Given the description of an element on the screen output the (x, y) to click on. 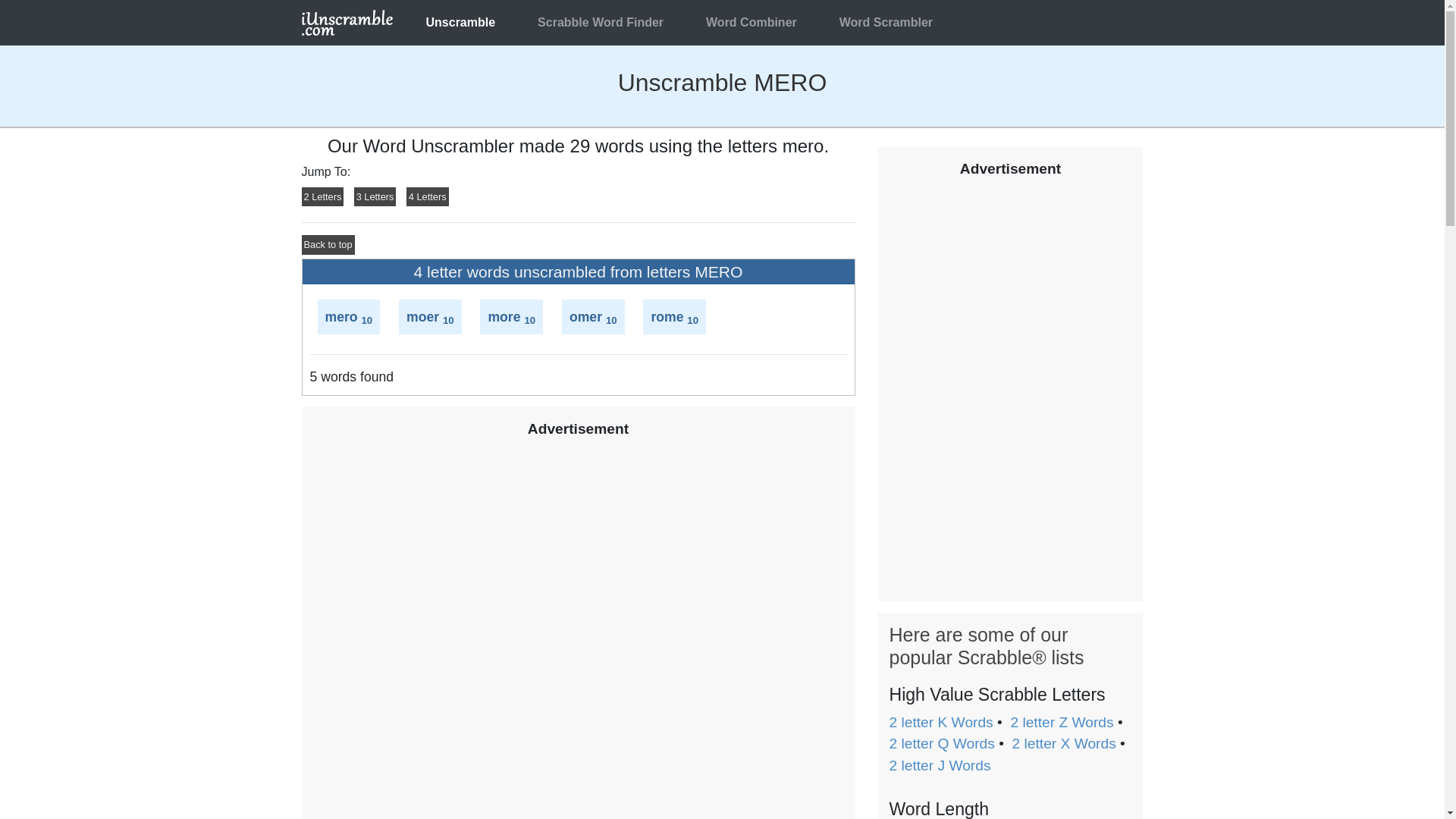
omer (585, 316)
unscramble rome (666, 316)
3 Letters (374, 196)
Word Combiner (751, 22)
unscramble omer (585, 316)
4 Letters (427, 196)
2 letter words (322, 196)
unscramble mero (340, 316)
Scrabble Word Finder (600, 22)
unscramble more (503, 316)
